Given the description of an element on the screen output the (x, y) to click on. 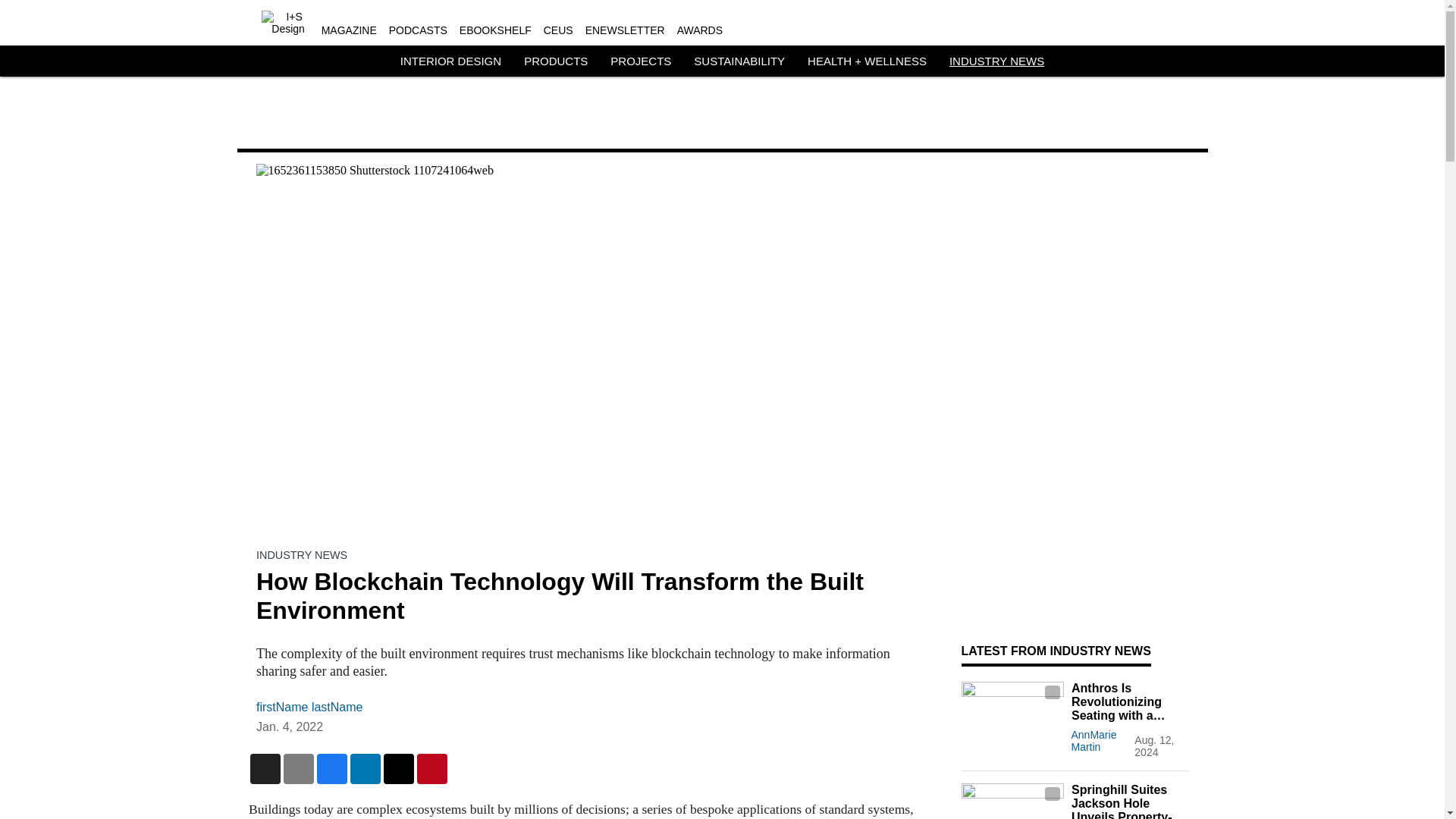
INTERIOR DESIGN (450, 60)
ENEWSLETTER (625, 30)
PODCASTS (417, 30)
PROJECTS (640, 60)
AWARDS (699, 30)
AnnMarie Martin (1093, 740)
CEUS (558, 30)
SUSTAINABILITY (739, 60)
EBOOKSHELF (495, 30)
